Given the description of an element on the screen output the (x, y) to click on. 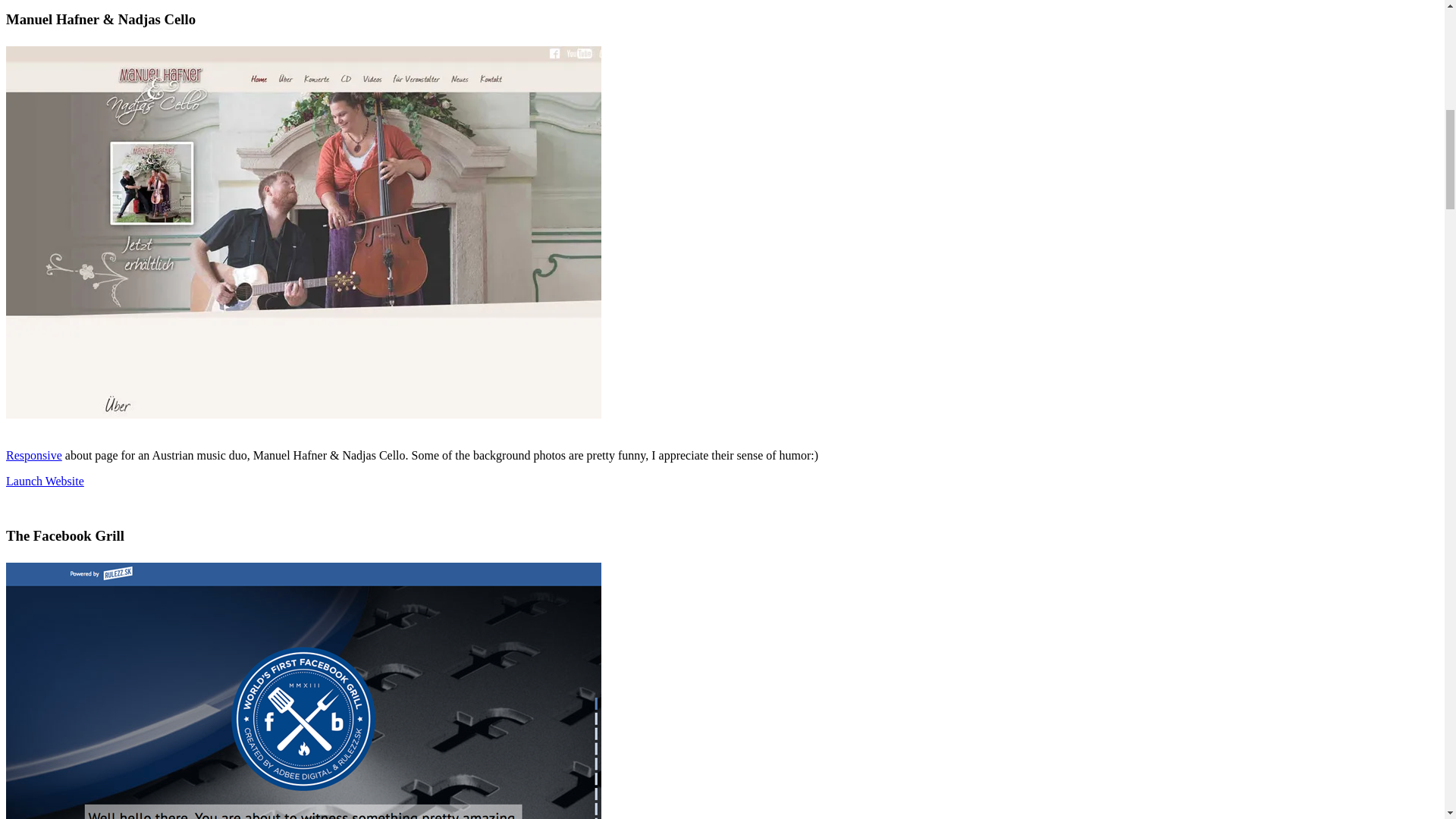
responsive (33, 454)
Responsive (33, 454)
Launch Website (44, 481)
